Given the description of an element on the screen output the (x, y) to click on. 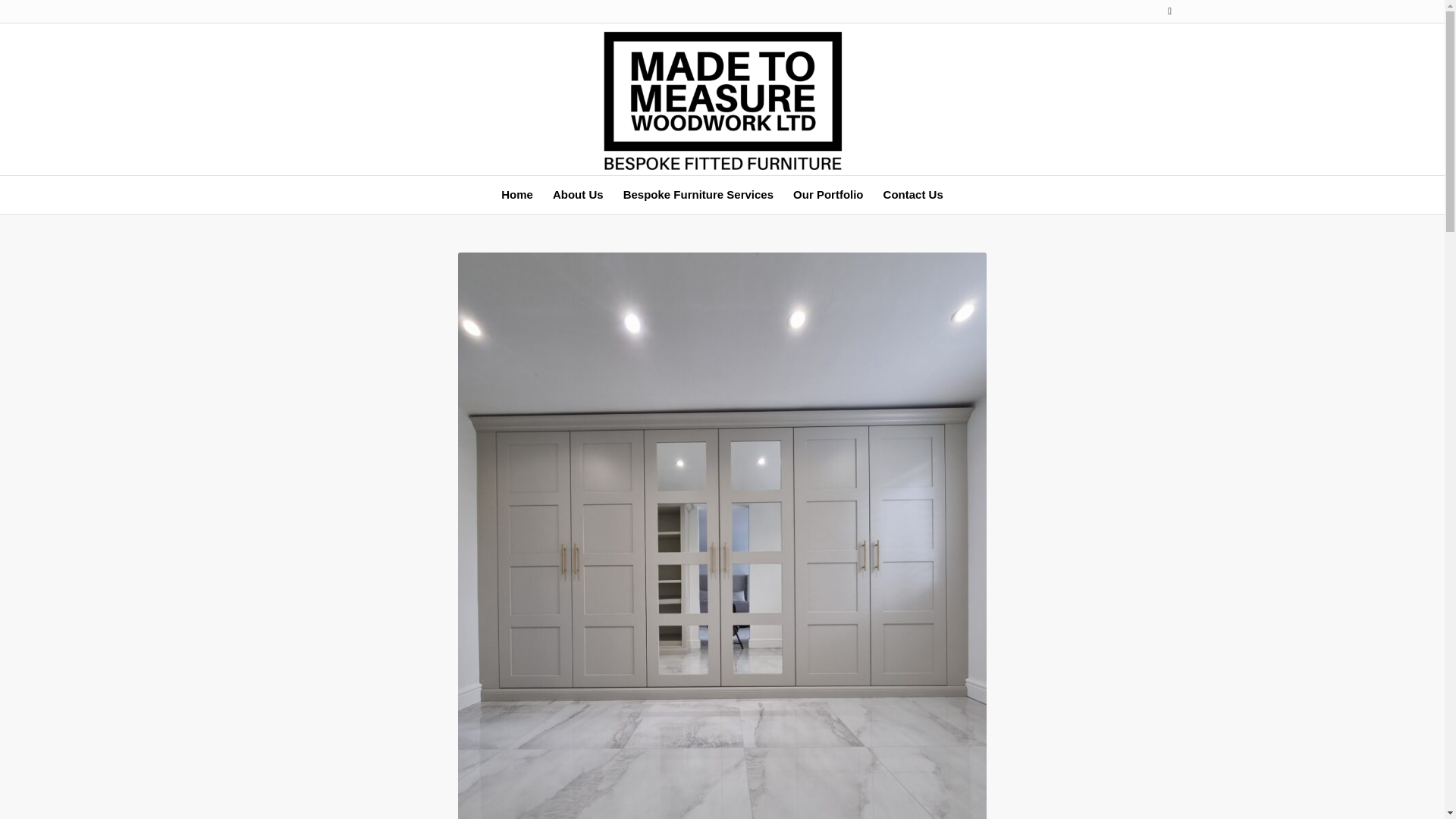
About Us (577, 194)
Contact Us (913, 194)
Instagram (1169, 11)
Bespoke Furniture Services (697, 194)
Home (517, 194)
Our Portfolio (828, 194)
